Given the description of an element on the screen output the (x, y) to click on. 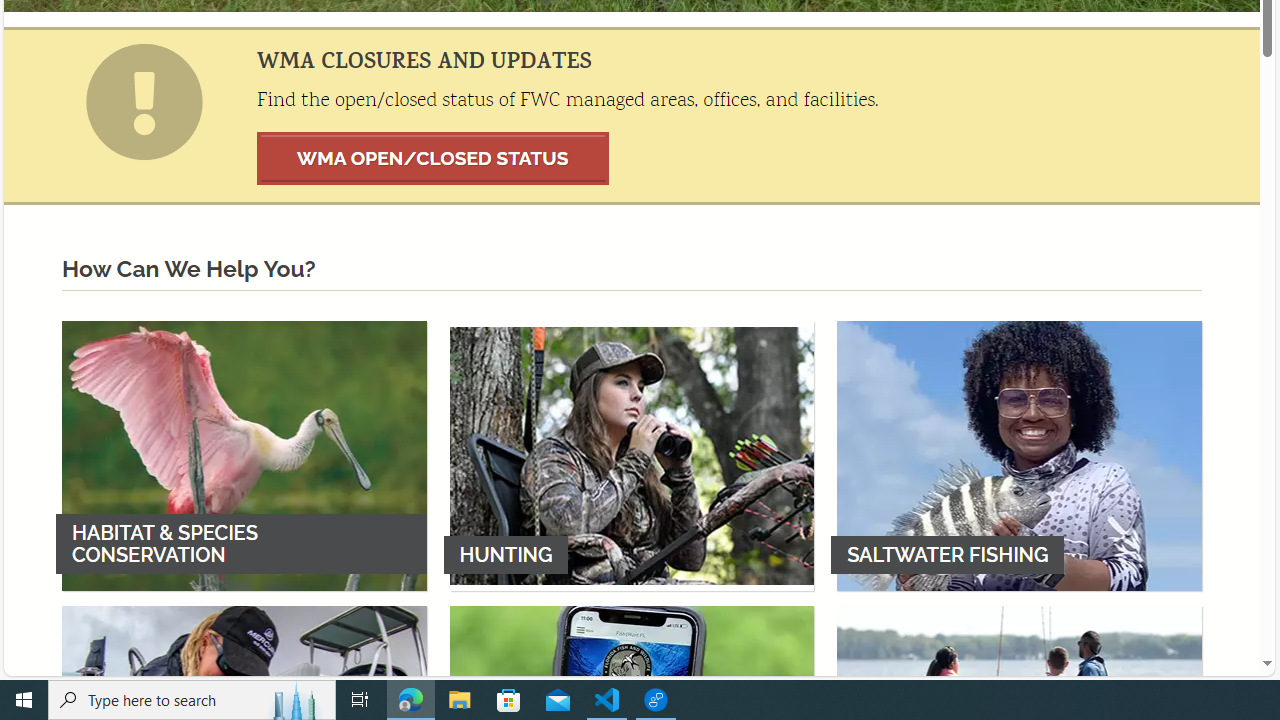
WMA OPEN/CLOSED STATUS (433, 158)
SALTWATER FISHING (1019, 455)
HABITAT & SPECIES CONSERVATION (244, 455)
HUNTING (632, 455)
